Given the description of an element on the screen output the (x, y) to click on. 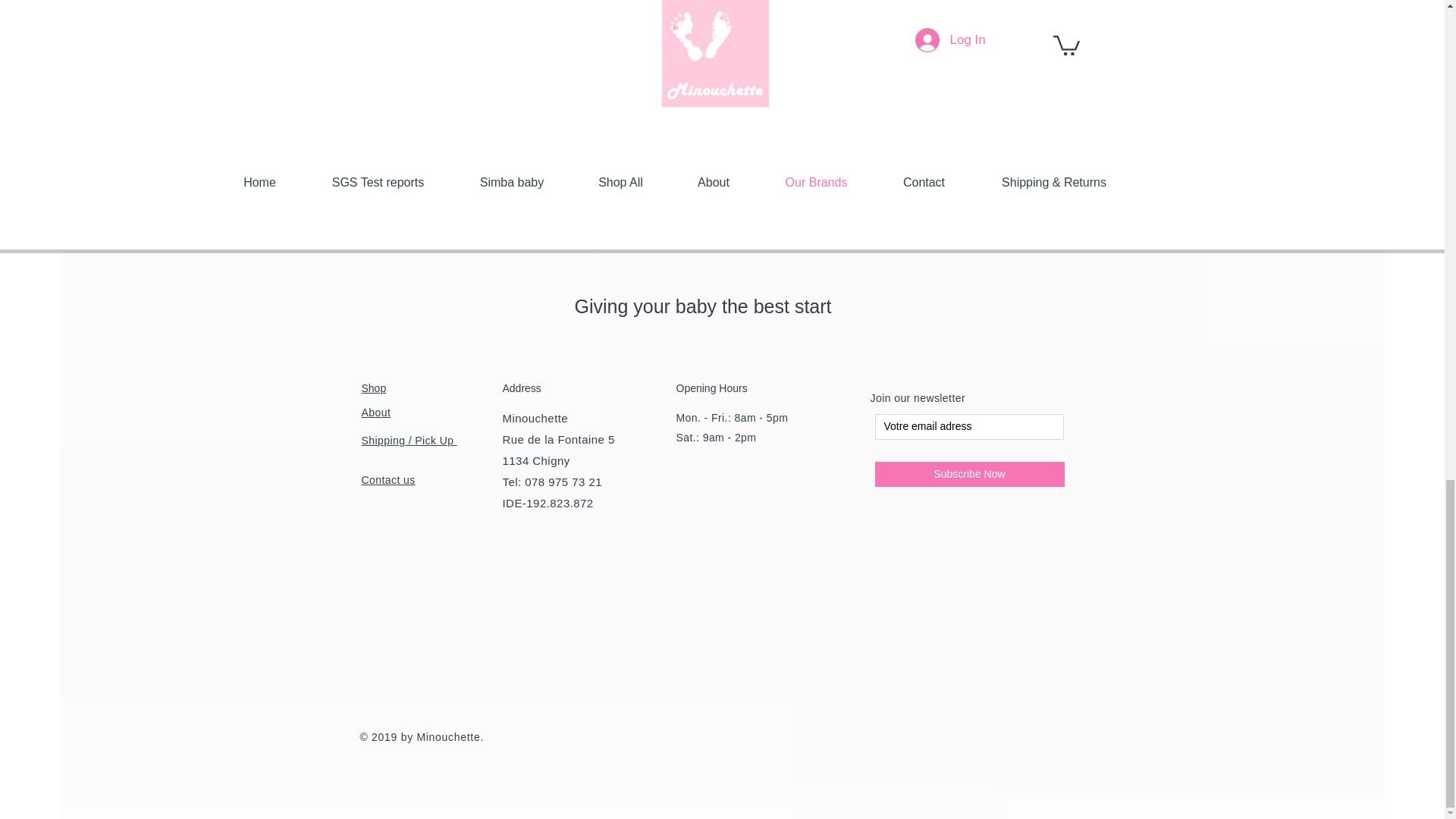
Shop (373, 387)
Subscribe Now (969, 473)
About (375, 412)
Contact us (387, 480)
